Given the description of an element on the screen output the (x, y) to click on. 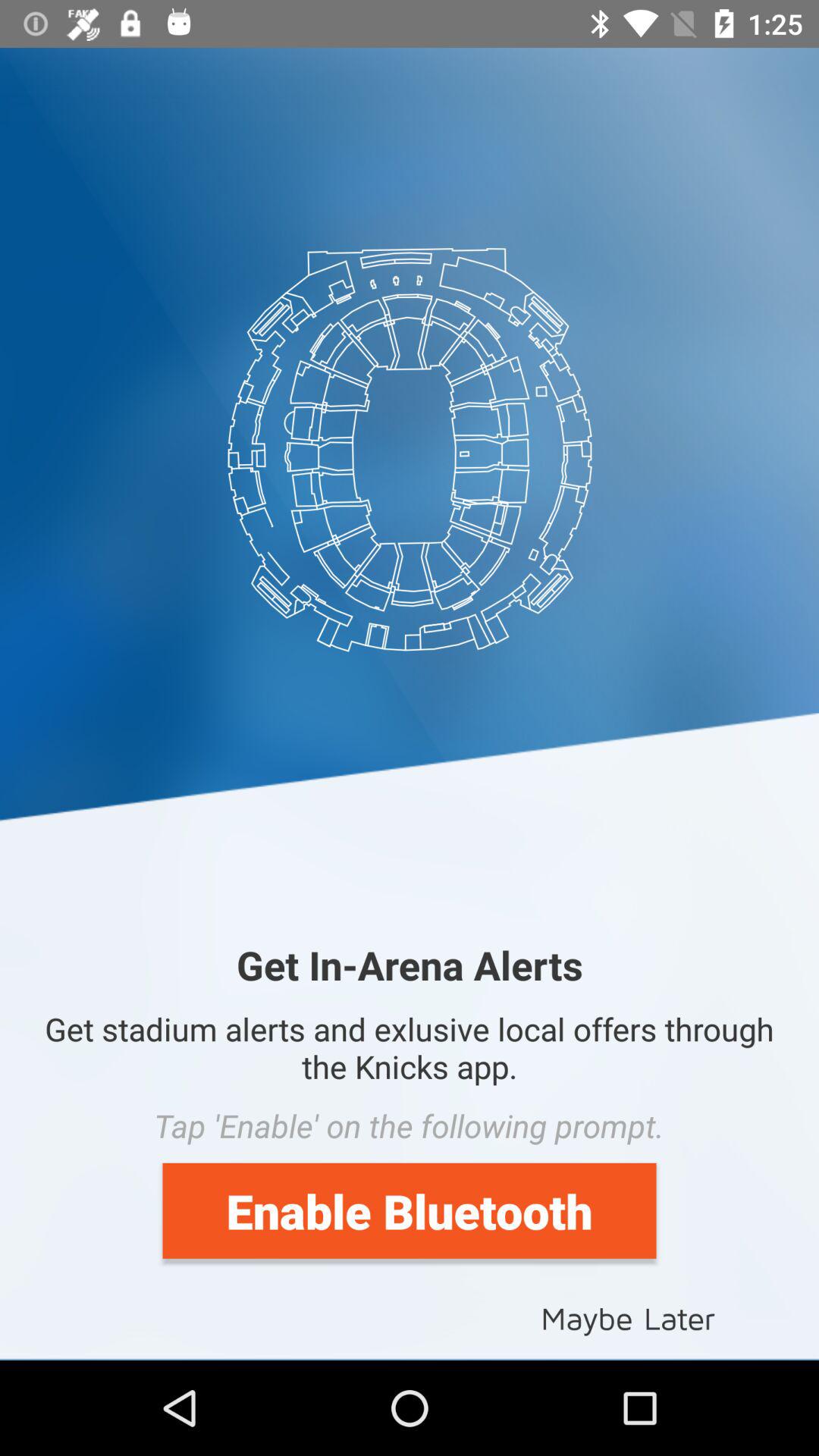
turn on the maybe later (627, 1317)
